Given the description of an element on the screen output the (x, y) to click on. 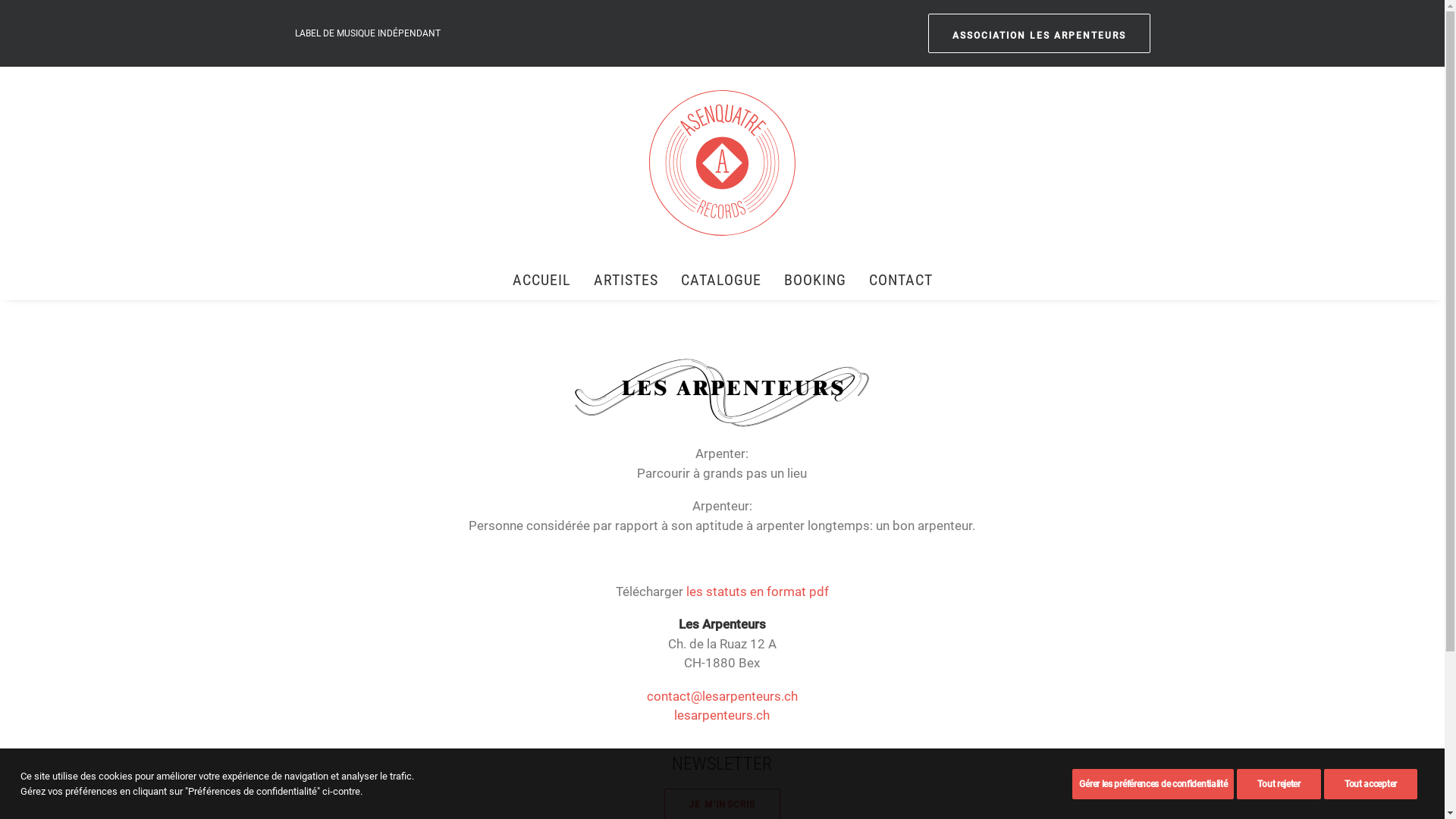
contact@lesarpenteurs.ch Element type: text (721, 695)
ASSOCIATION LES ARPENTEURS Element type: text (1039, 33)
CONTACT Element type: text (894, 279)
Tout accepter Element type: text (1370, 783)
ARTISTES Element type: text (625, 279)
lesarpenteurs.ch Element type: text (721, 714)
Tout rejeter Element type: text (1278, 783)
ACCUEIL Element type: text (546, 279)
BOOKING Element type: text (814, 279)
CATALOGUE Element type: text (720, 279)
les statuts en format pdf Element type: text (757, 591)
